Given the description of an element on the screen output the (x, y) to click on. 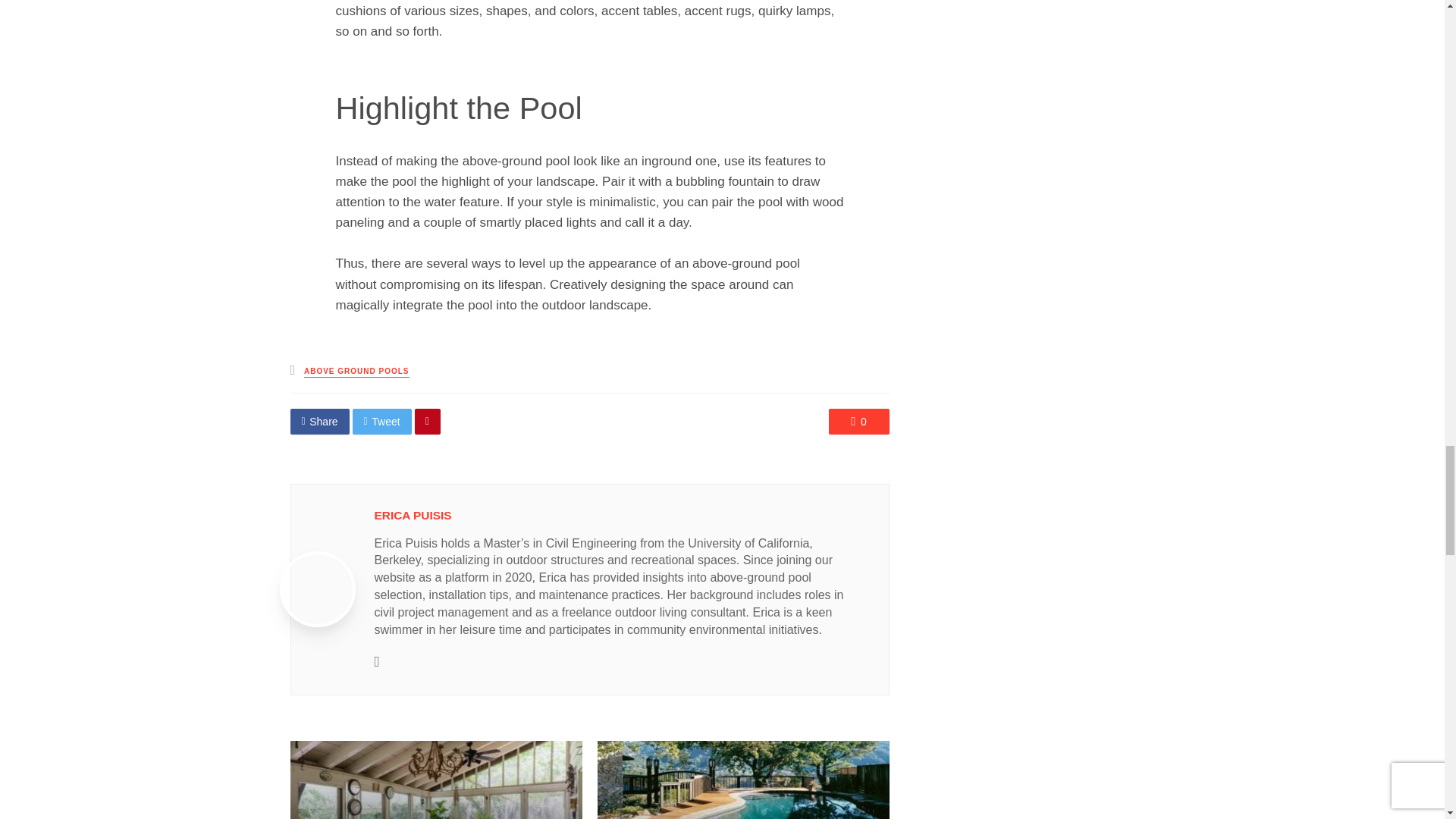
Posts by Erica Puisis (412, 514)
ABOVE GROUND POOLS (356, 371)
Share (319, 421)
Tweet (382, 421)
